Given the description of an element on the screen output the (x, y) to click on. 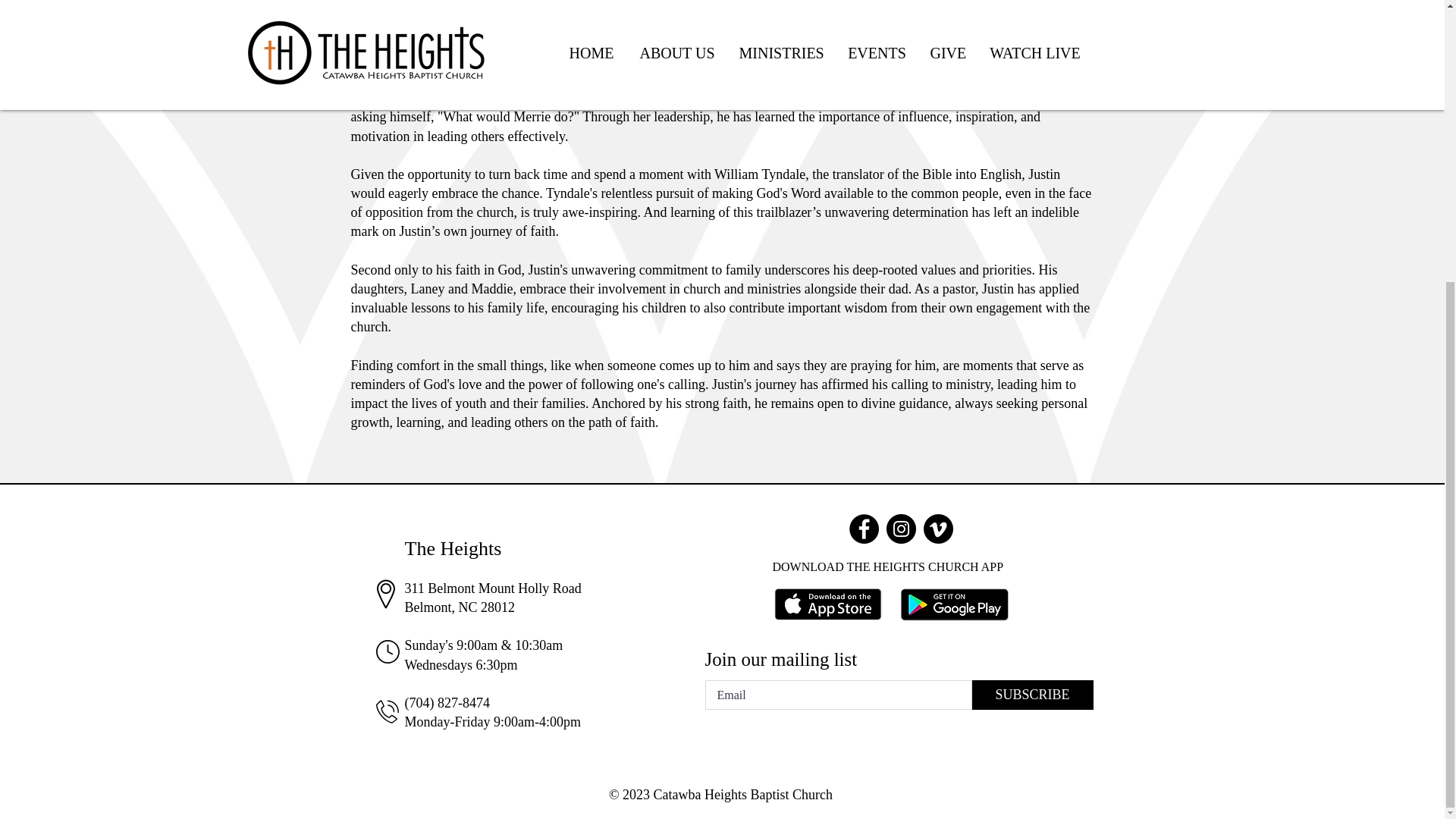
Click to download the app from the Apple Store (827, 605)
Click to download the app from Google Play (954, 606)
311 Belmont Mount Holly Road (492, 588)
SUBSCRIBE (1032, 695)
